Given the description of an element on the screen output the (x, y) to click on. 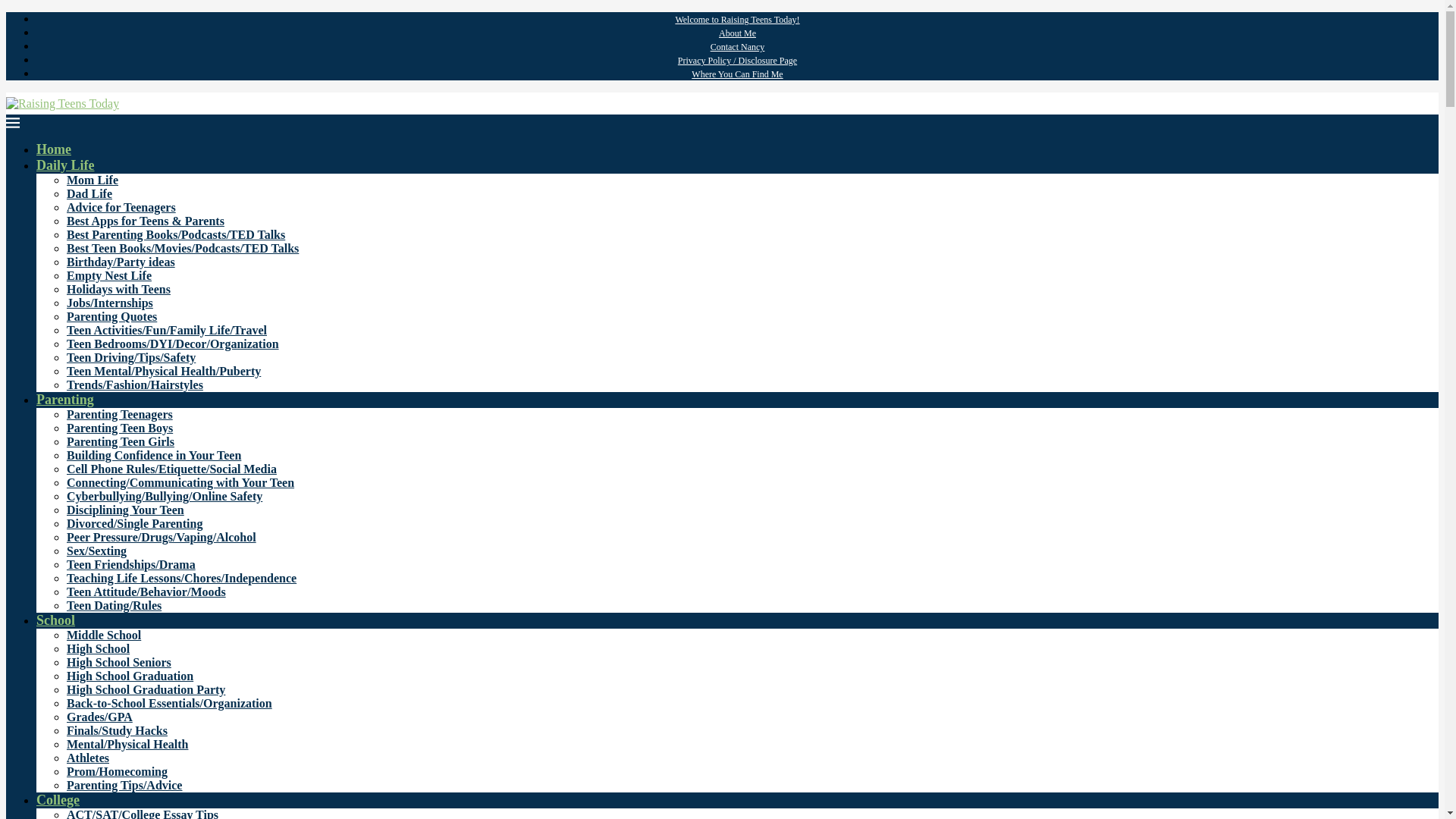
Building Confidence in Your Teen (153, 454)
Contact Nancy (737, 46)
Home (53, 149)
Parenting Quotes (111, 316)
Parenting Teen Girls (120, 440)
Parenting Teenagers (119, 413)
Mom Life (91, 179)
Parenting (65, 399)
Empty Nest Life (108, 275)
Disciplining Your Teen (125, 509)
Welcome to Raising Teens Today! (737, 19)
Holidays with Teens (118, 288)
Advice for Teenagers (121, 206)
Where You Can Find Me (737, 73)
Parenting Teen Boys (119, 427)
